Given the description of an element on the screen output the (x, y) to click on. 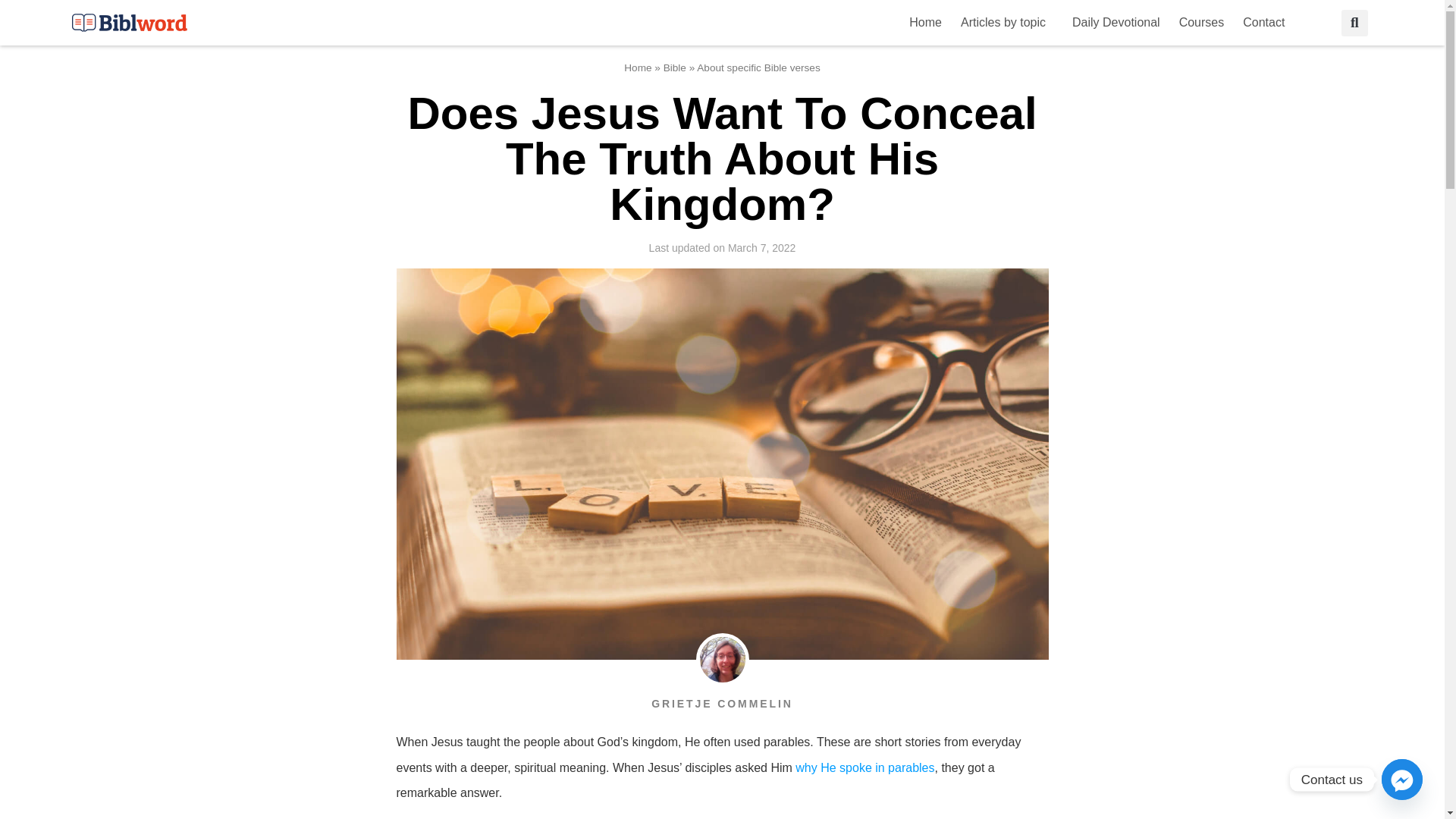
Home (925, 22)
Courses (1201, 22)
Articles by topic (1007, 22)
Contact (1267, 22)
Daily Devotional (1115, 22)
